Given the description of an element on the screen output the (x, y) to click on. 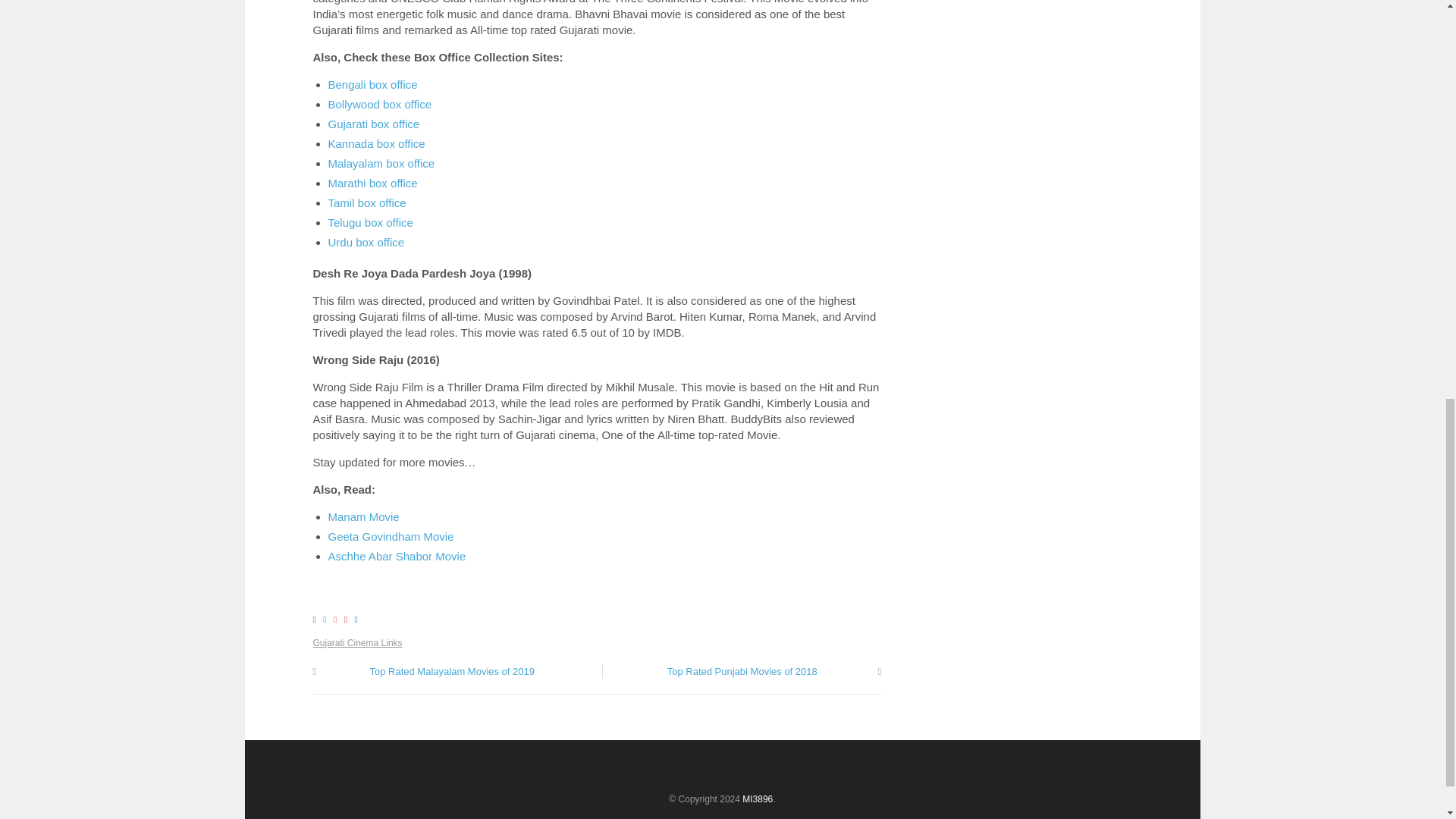
Telugu box office (369, 222)
Manam Movie (362, 516)
Urdu box office (365, 241)
Tamil box office (366, 202)
Malayalam box office (380, 163)
Gujarati box office (373, 123)
Bollywood box office (378, 103)
Kannada box office (376, 143)
Marathi box office (371, 182)
Geeta Govindham Movie (389, 535)
